Given the description of an element on the screen output the (x, y) to click on. 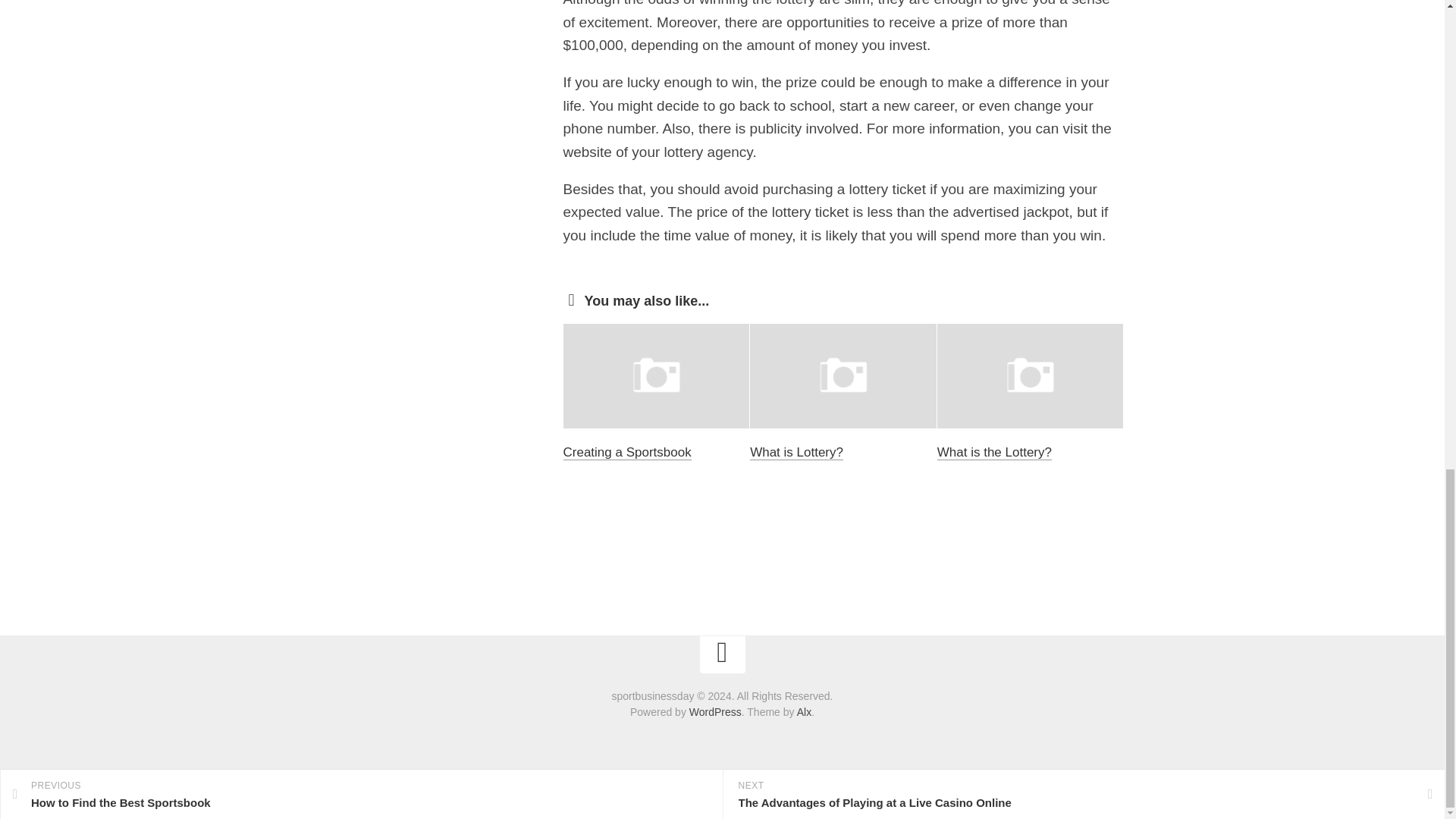
Alx (803, 711)
Slot Machines and Slot Receivers (628, 424)
WordPress (714, 711)
What Is a Sportsbook? (814, 415)
